Given the description of an element on the screen output the (x, y) to click on. 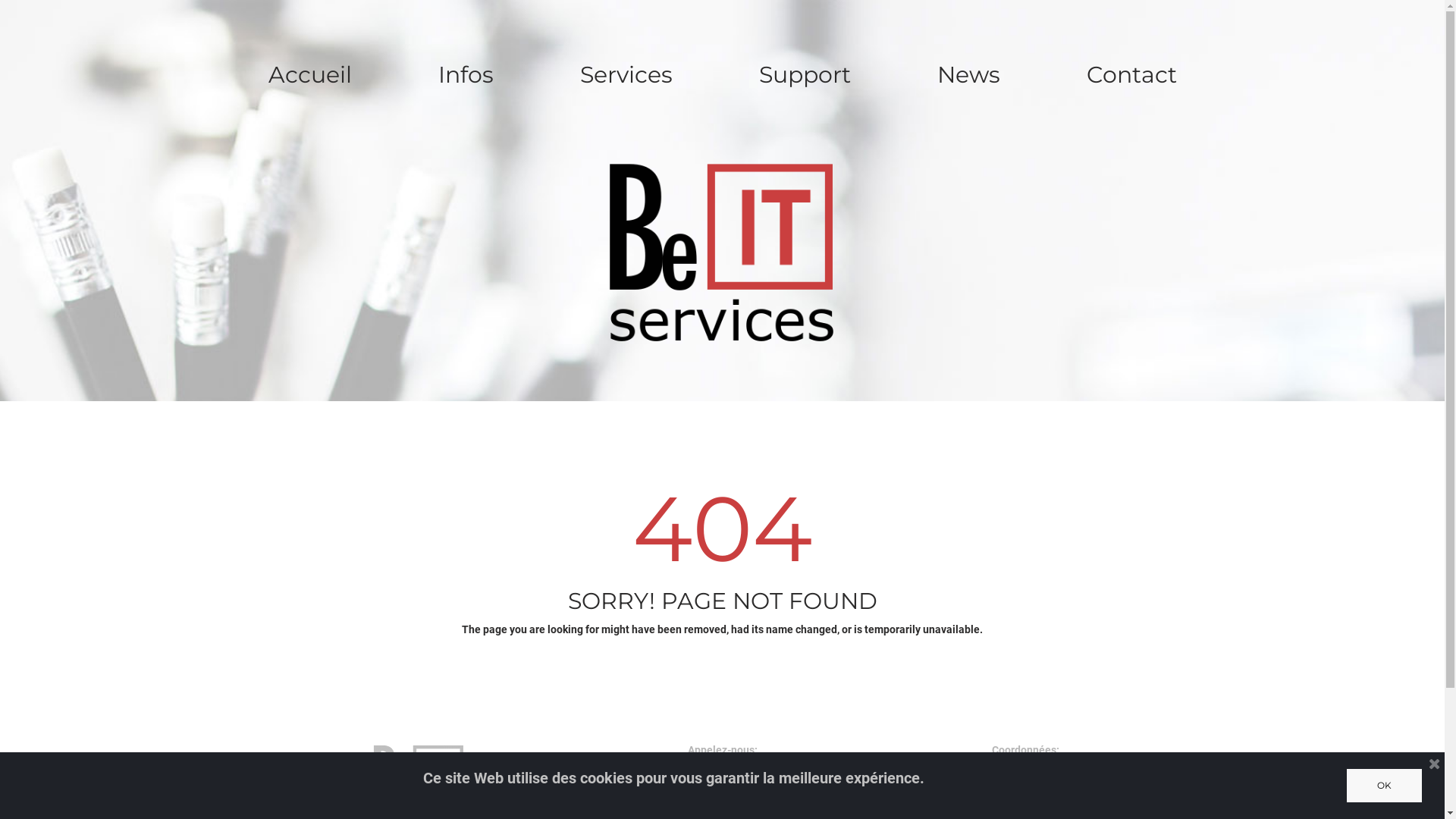
Contact Element type: text (1131, 75)
+32 (0) 479 11 20 60 Element type: text (722, 801)
Accueil Element type: text (309, 75)
Support Element type: text (804, 75)
Services Element type: text (626, 75)
News Element type: text (967, 75)
OK Element type: text (1383, 784)
Infos Element type: text (464, 75)
